Given the description of an element on the screen output the (x, y) to click on. 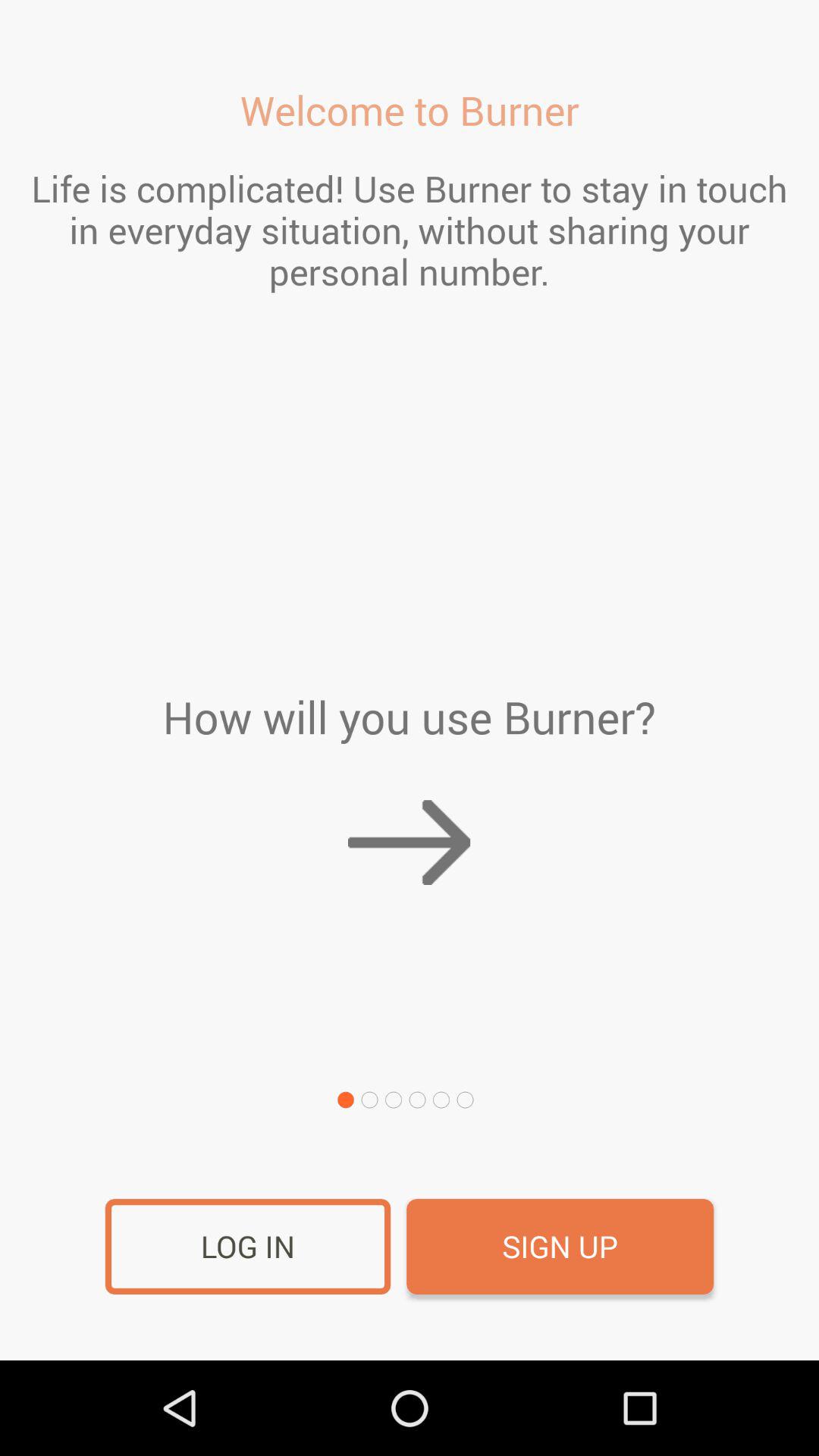
jump to sign up (559, 1246)
